Given the description of an element on the screen output the (x, y) to click on. 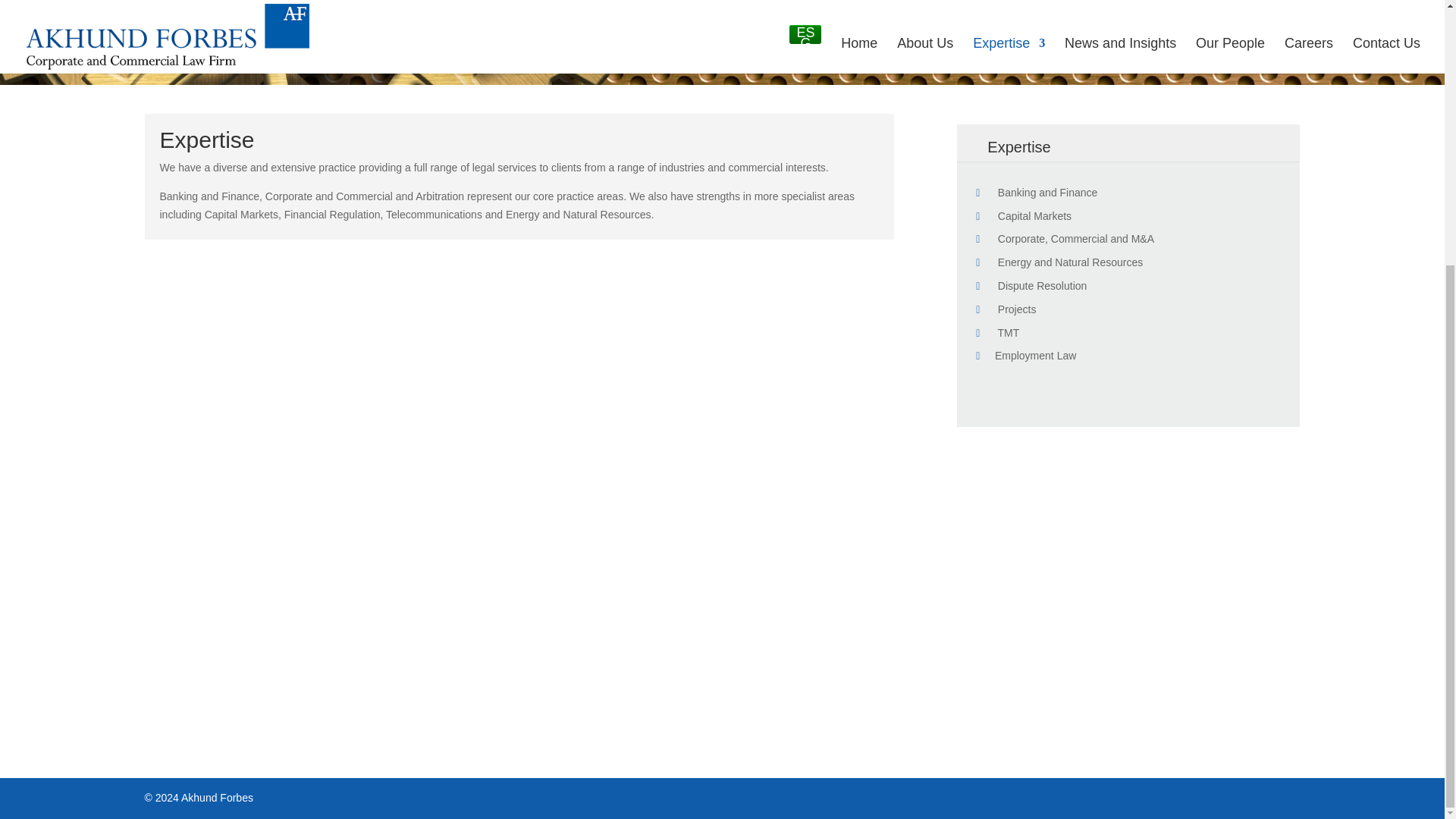
      Dispute Resolution (1030, 285)
      Capital Markets (1023, 215)
      Energy and Natural Resources (1058, 262)
      Projects (1005, 309)
      Banking and Finance (1036, 192)
      TMT (997, 332)
